Given the description of an element on the screen output the (x, y) to click on. 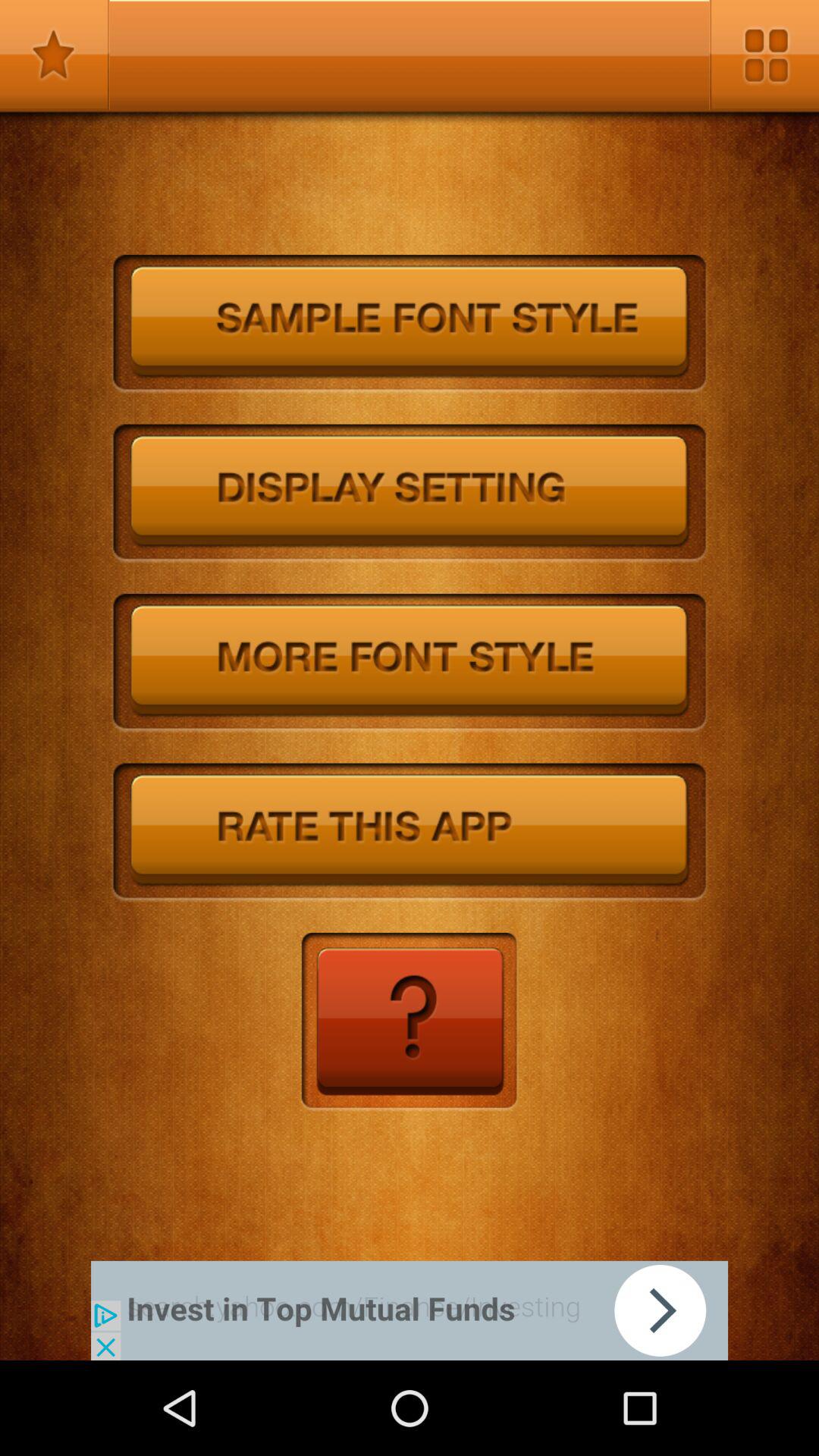
rate this app (409, 832)
